Given the description of an element on the screen output the (x, y) to click on. 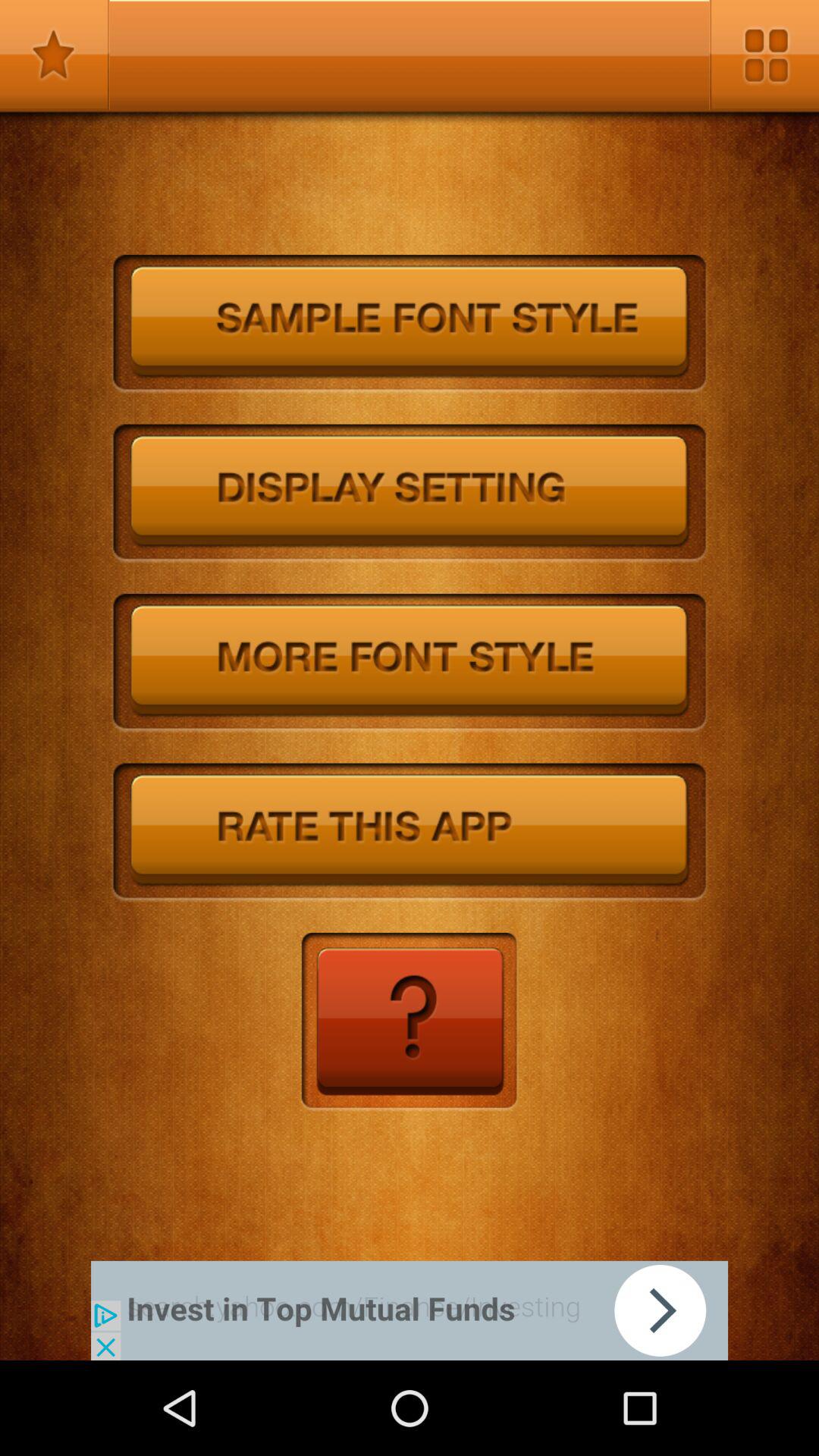
rate this app (409, 832)
